Given the description of an element on the screen output the (x, y) to click on. 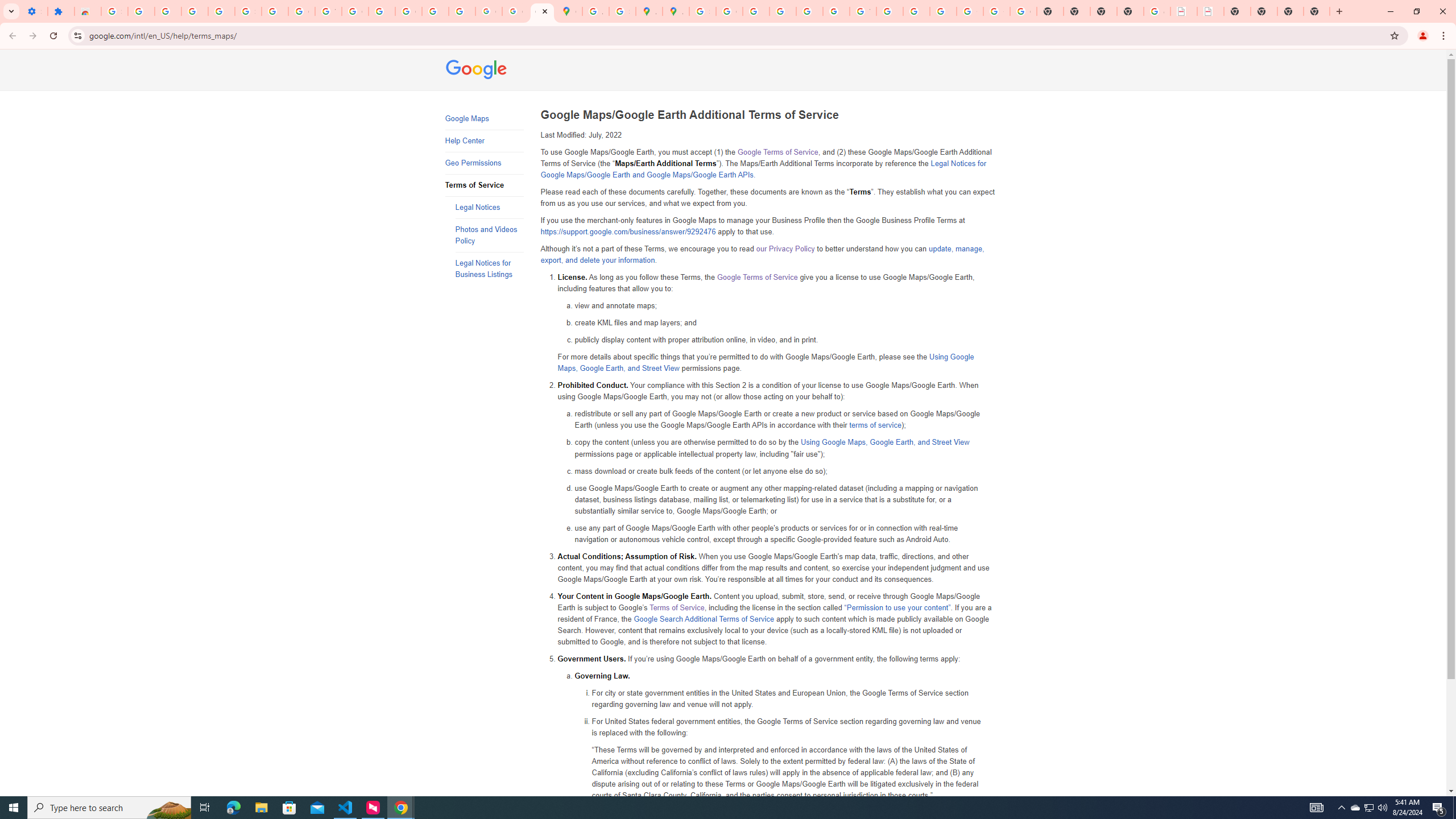
Using Google Maps, Google Earth, and Street View (884, 442)
Geo Permissions (484, 162)
New Tab (1130, 11)
https://support.google.com/business/answer/9292476 (628, 231)
Google Terms of Service (756, 276)
